Given the description of an element on the screen output the (x, y) to click on. 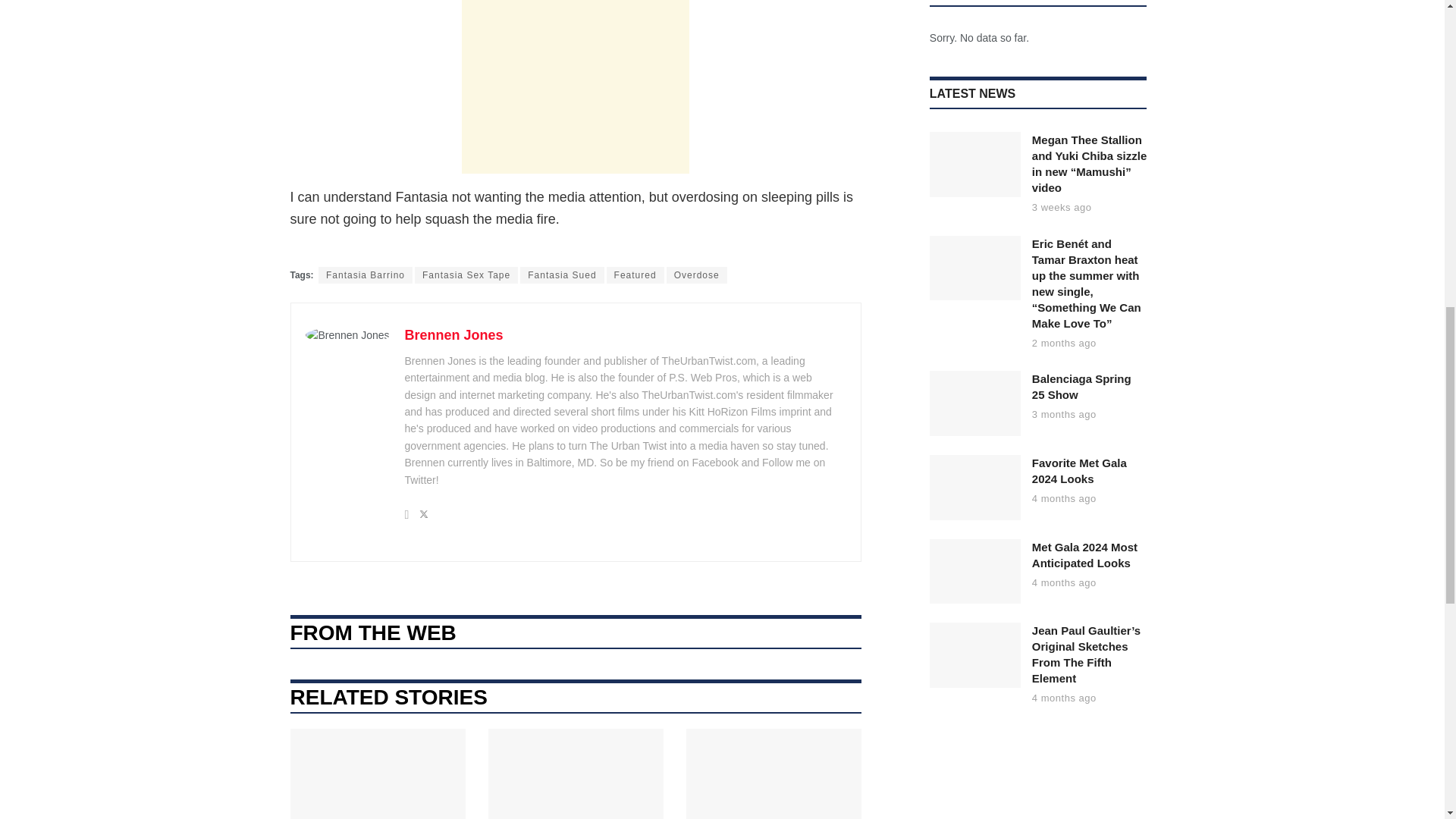
Brennen Jones (453, 335)
Featured (635, 274)
Fantasia Barrino (365, 274)
Fantasia Sued (561, 274)
Overdose (696, 274)
Fantasia Sex Tape (466, 274)
